Given the description of an element on the screen output the (x, y) to click on. 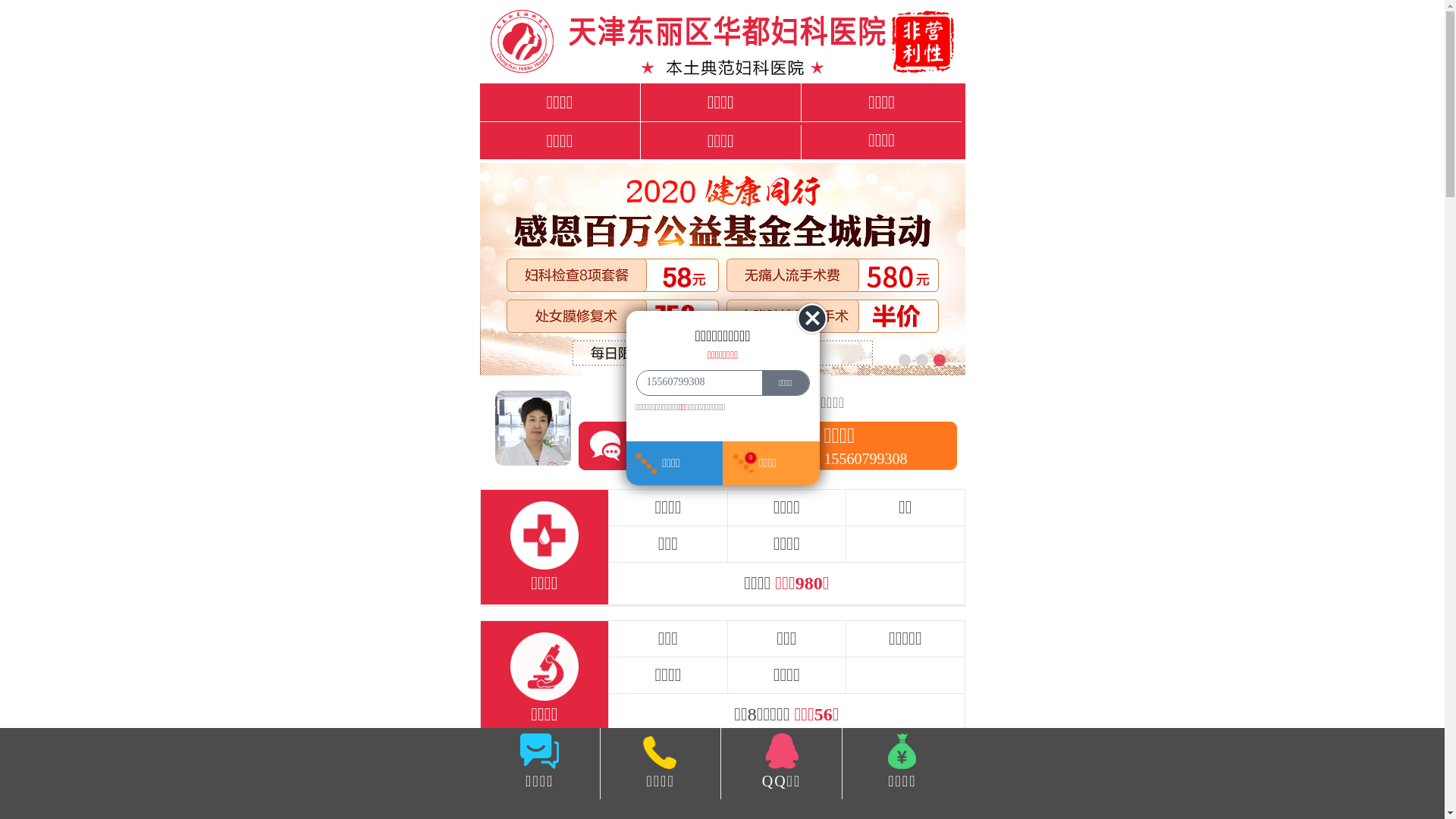
15560799308  Element type: text (695, 381)
